Given the description of an element on the screen output the (x, y) to click on. 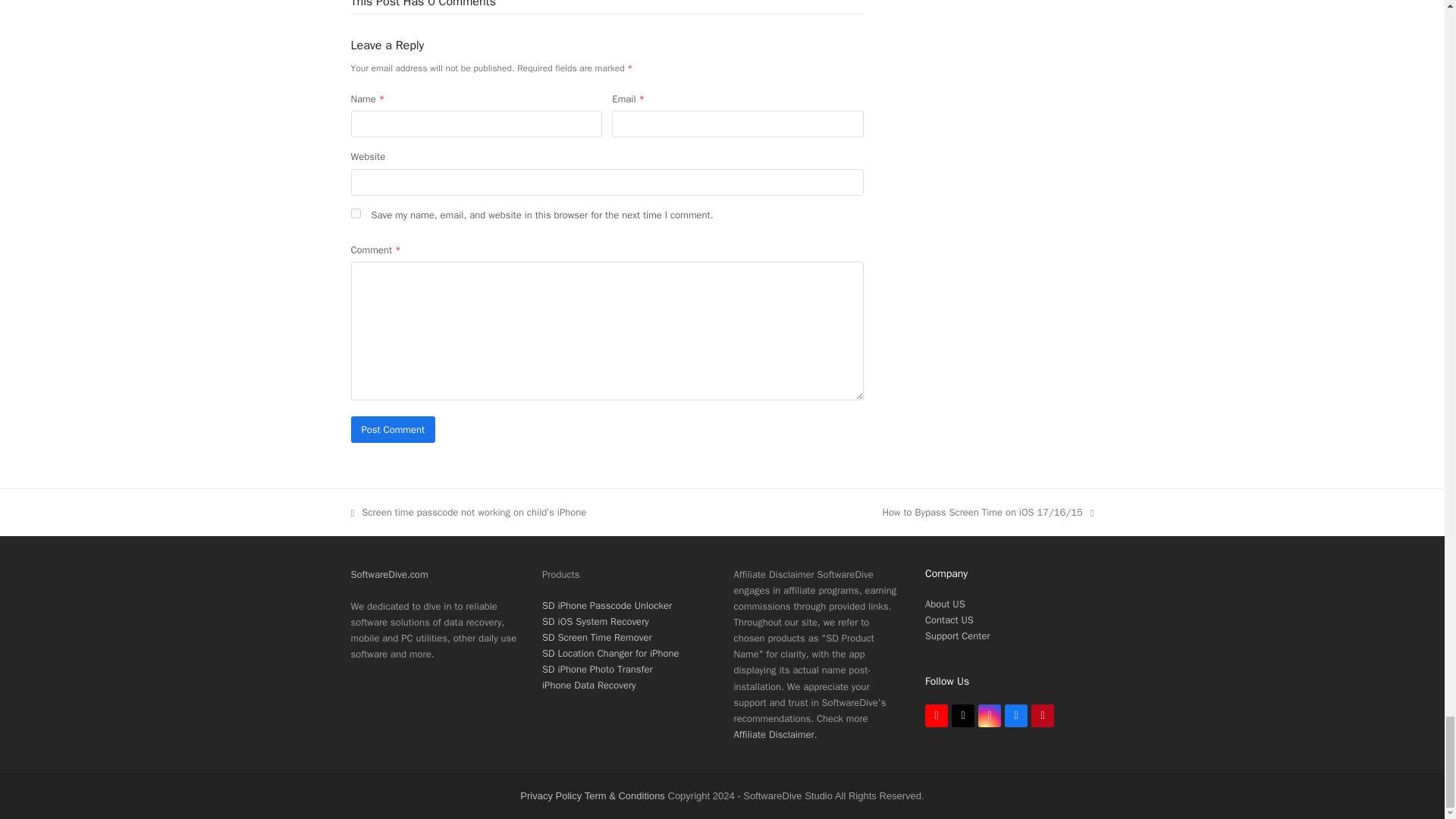
Post Comment (392, 429)
Tiktok (963, 715)
Facebook (1015, 715)
Pinterest (1042, 715)
SoftwareDive Homepage (389, 574)
yes (354, 213)
YouTube (935, 715)
Instagram (989, 715)
